Given the description of an element on the screen output the (x, y) to click on. 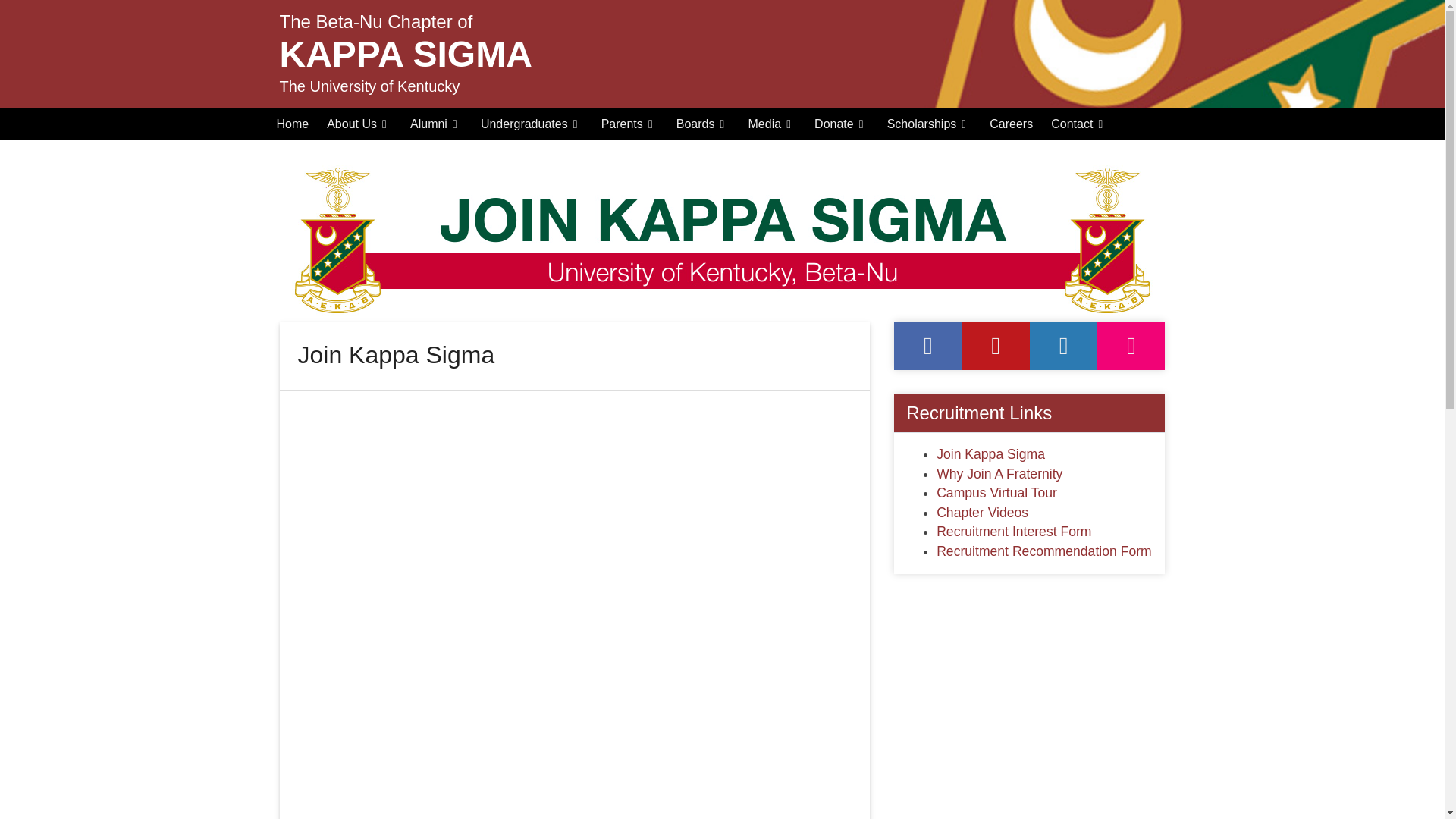
Scholarships (929, 124)
Undergraduates (531, 124)
Donate (841, 124)
Parents (629, 124)
Media (771, 124)
Boards (702, 124)
Alumni (436, 124)
Home (291, 124)
About Us (359, 124)
